Given the description of an element on the screen output the (x, y) to click on. 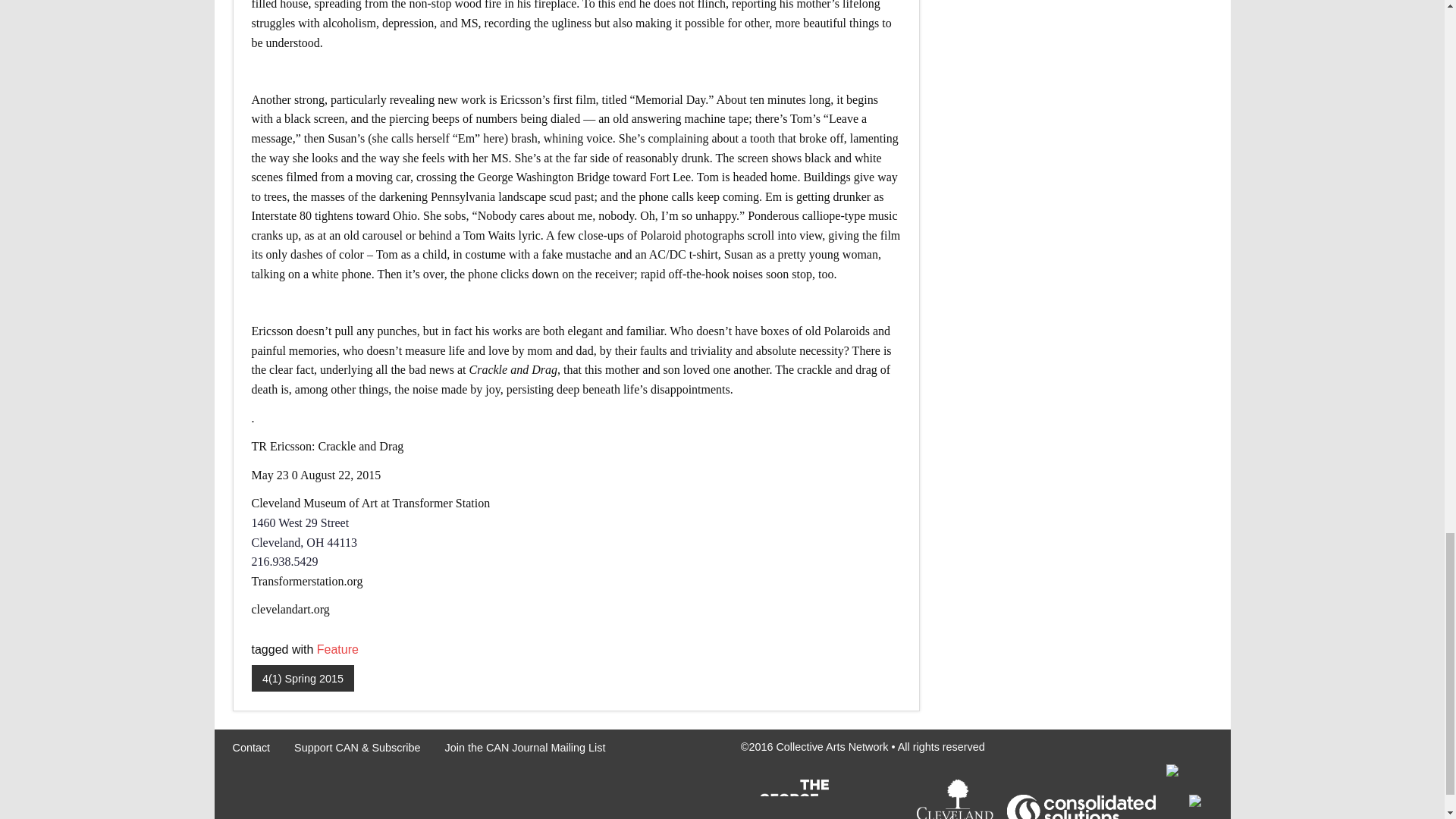
Feature (337, 649)
Join the CAN Journal Mailing List (524, 747)
Contact (250, 747)
